Given the description of an element on the screen output the (x, y) to click on. 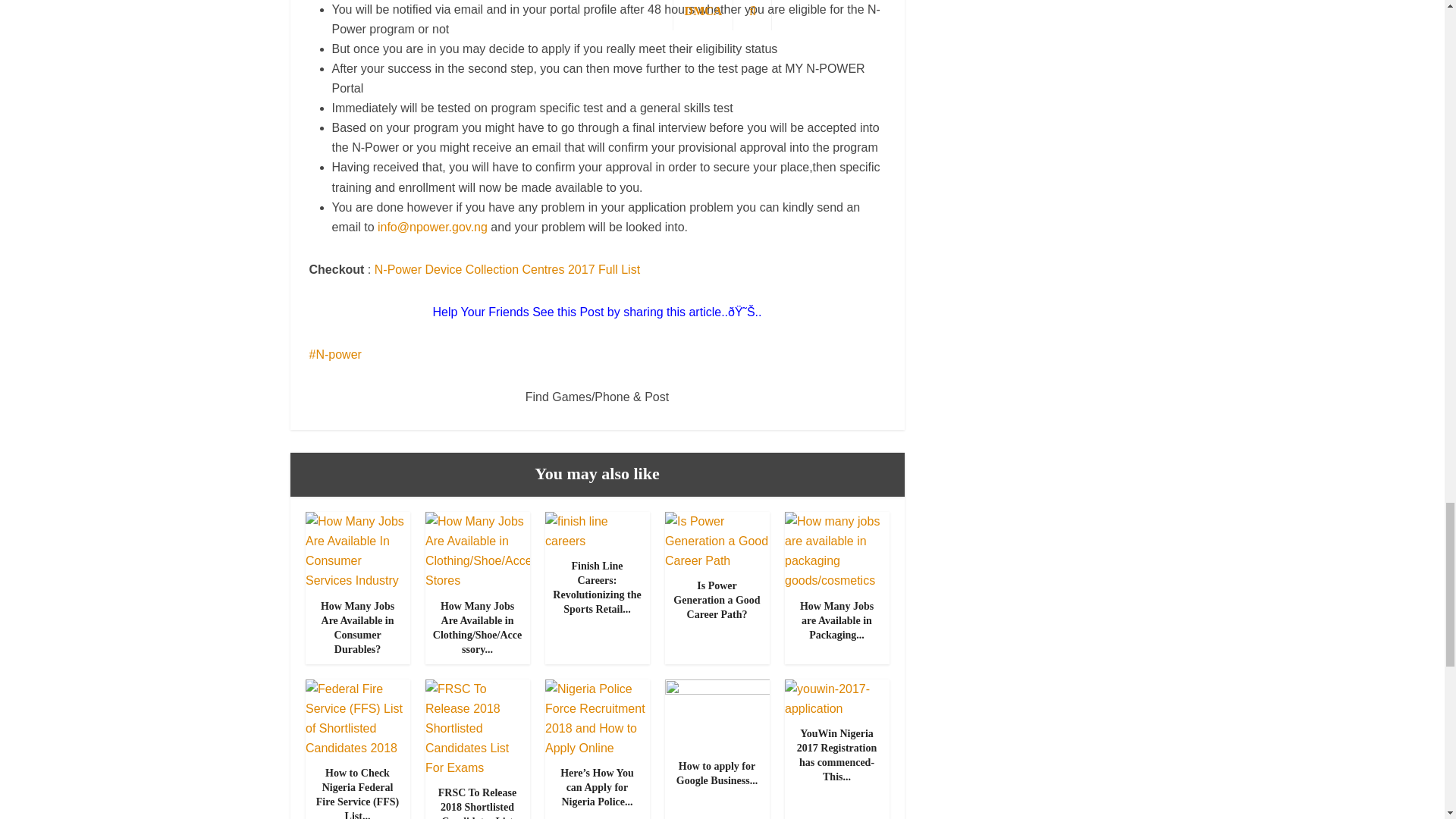
Is Power Generation a Good Career Path? (715, 540)
FRSC To Release 2018 Shortlisted Candidates List For Exams (477, 727)
Is Power Generation a Good Career Path? (716, 599)
FRSC To Release 2018 Shortlisted Candidates List For Exams (477, 803)
How Many Jobs Are Available in Consumer Durables? (357, 627)
How Many Jobs Are Available in Consumer Durables? (356, 550)
